Given the description of an element on the screen output the (x, y) to click on. 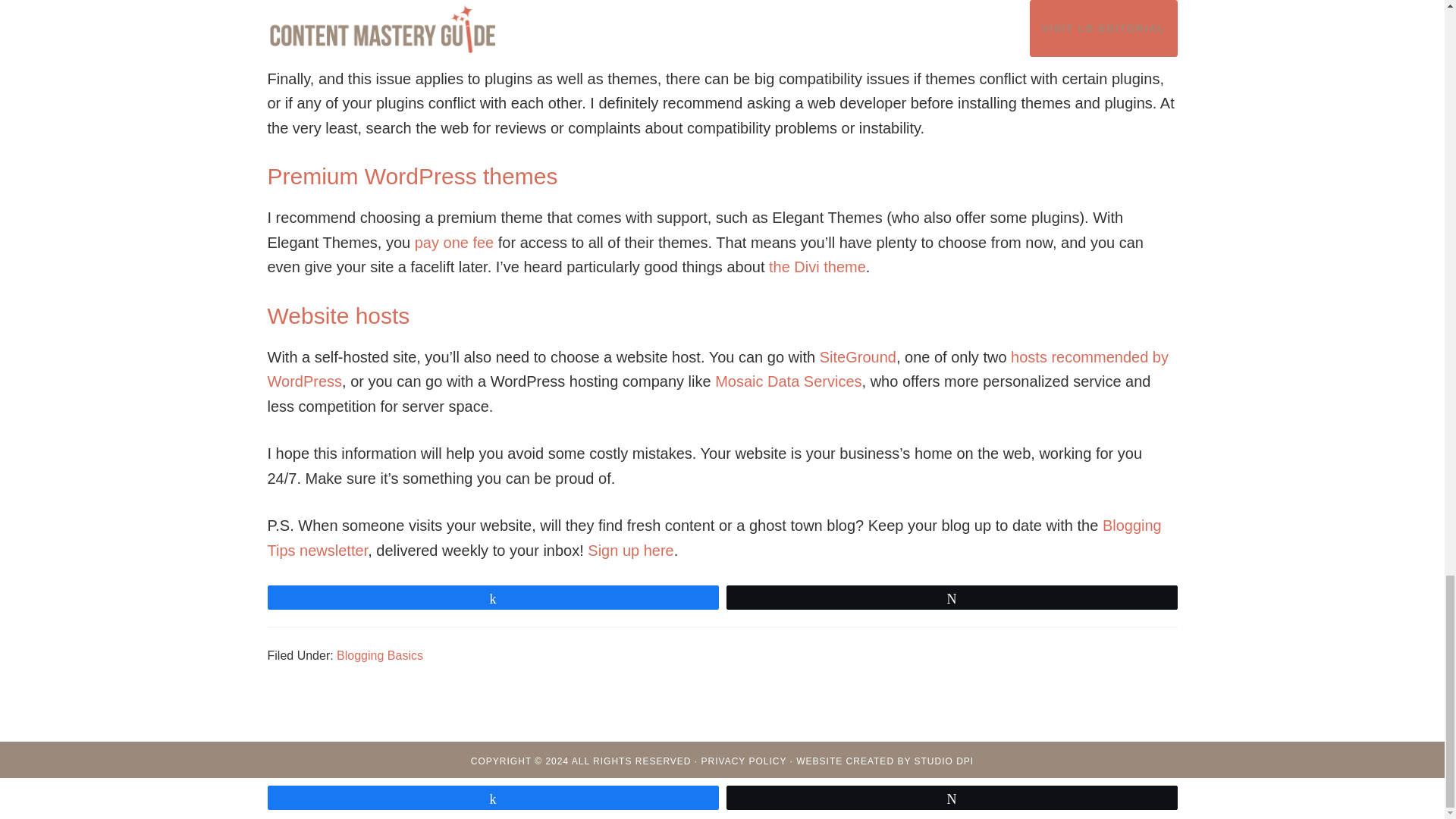
Mosaic Data Services (787, 381)
STUDIO DPI (944, 760)
SiteGround (857, 356)
PRIVACY POLICY (744, 760)
Link opens in new window (716, 369)
hosts recommended by WordPress (716, 369)
pay one fee (454, 242)
the Divi theme (817, 266)
Sign up here (630, 550)
Blogging Basics (379, 655)
Blogging Tips newsletter (713, 537)
